Given the description of an element on the screen output the (x, y) to click on. 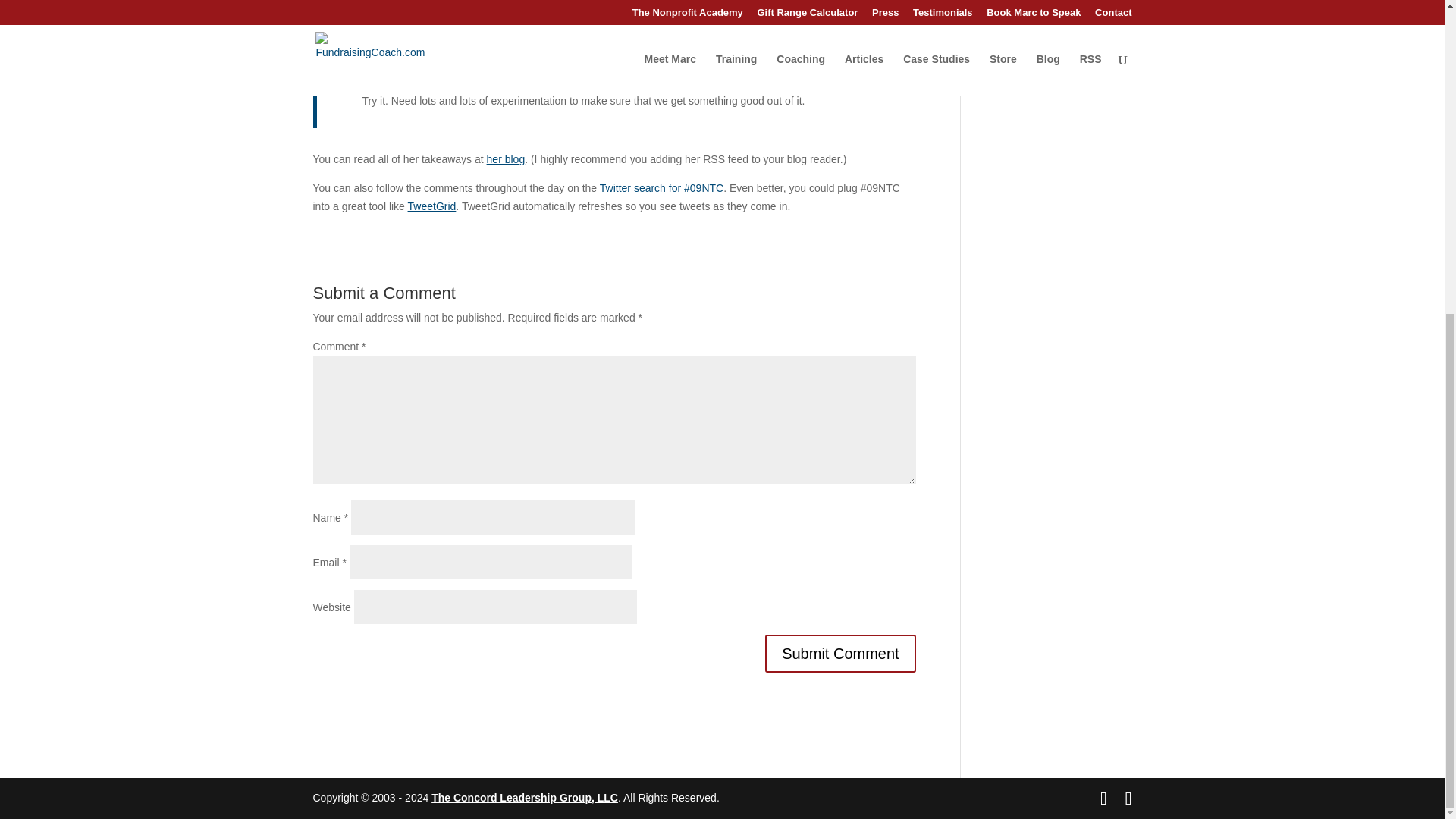
The Concord Leadership Group, LLC (523, 797)
Marc on LinkedIn (1049, 57)
her blog (505, 159)
TweetGrid (432, 205)
Ask Without Fear! on Facebook (1057, 31)
Submit Comment (840, 653)
Submit Comment (840, 653)
